Given the description of an element on the screen output the (x, y) to click on. 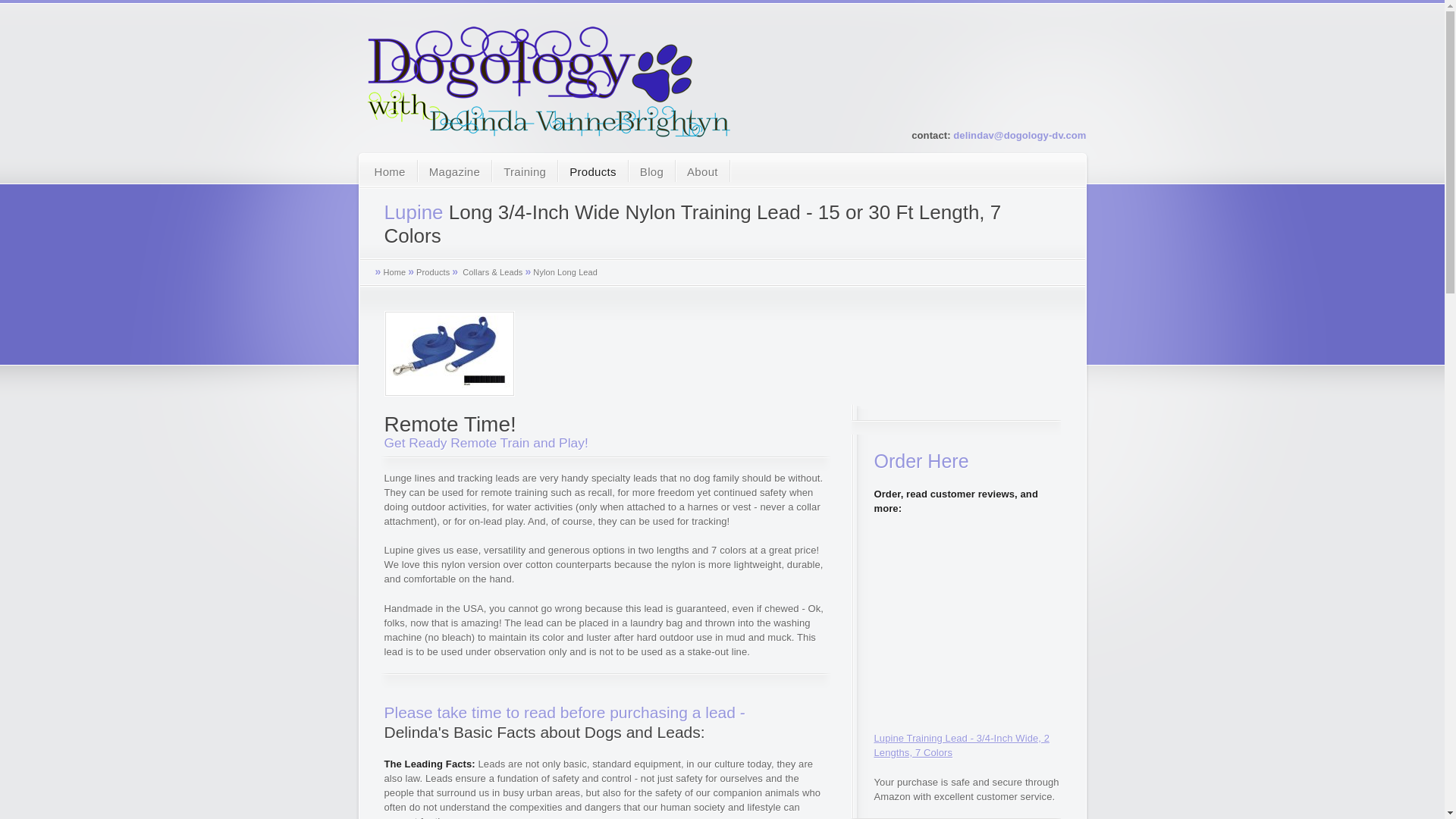
Home (389, 172)
Blog (651, 172)
Magazine (454, 172)
Training (524, 172)
Products (592, 172)
